Given the description of an element on the screen output the (x, y) to click on. 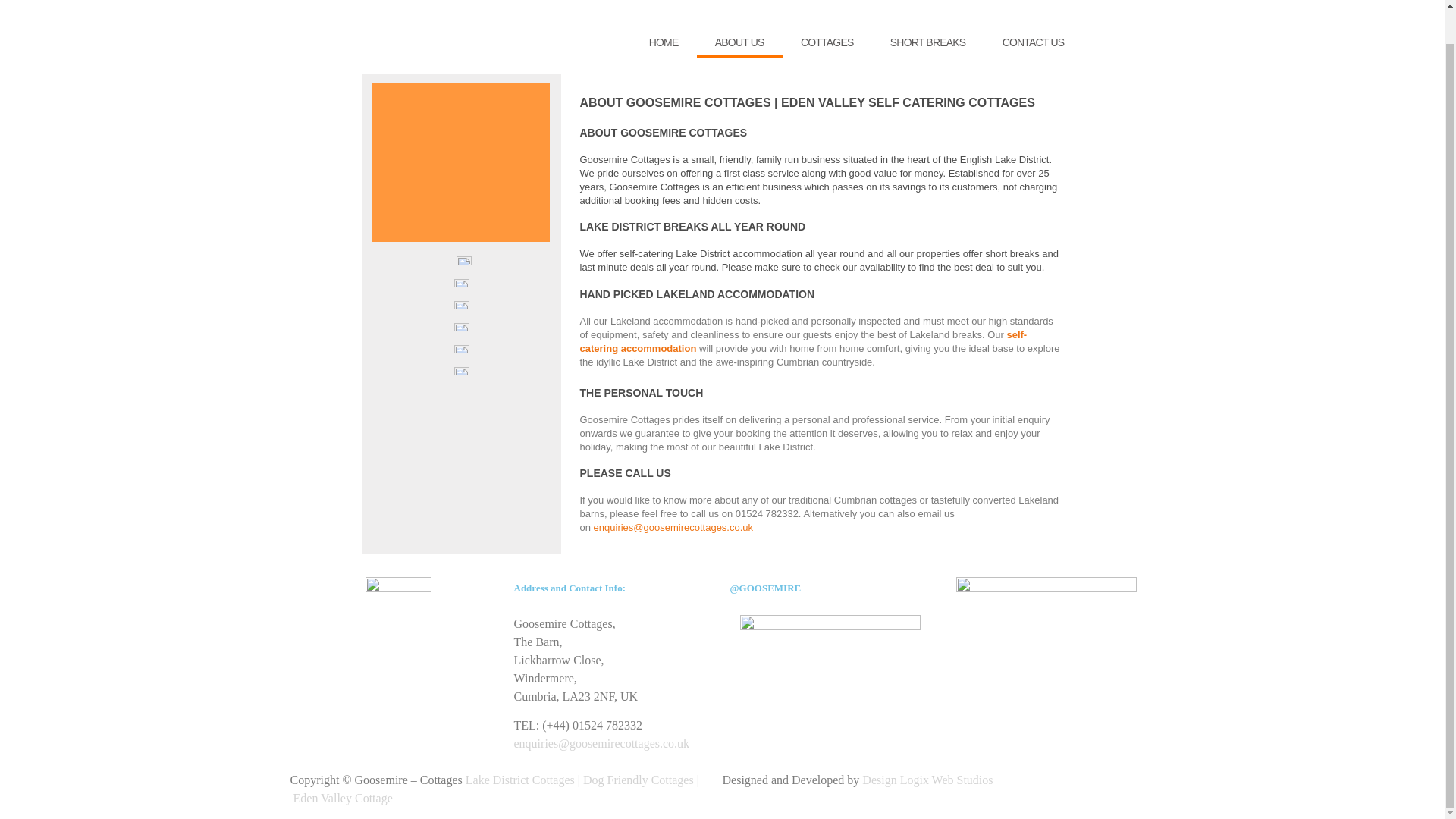
COTTAGES (827, 42)
ABOUT US (740, 42)
HOME (662, 42)
SHORT BREAKS (928, 42)
CONTACT US (1033, 42)
Design Logix Web Studios (926, 779)
Eden Valley Cottage (341, 797)
Dog Friendly Cottages (638, 779)
Lake District Cottages (520, 779)
